Given the description of an element on the screen output the (x, y) to click on. 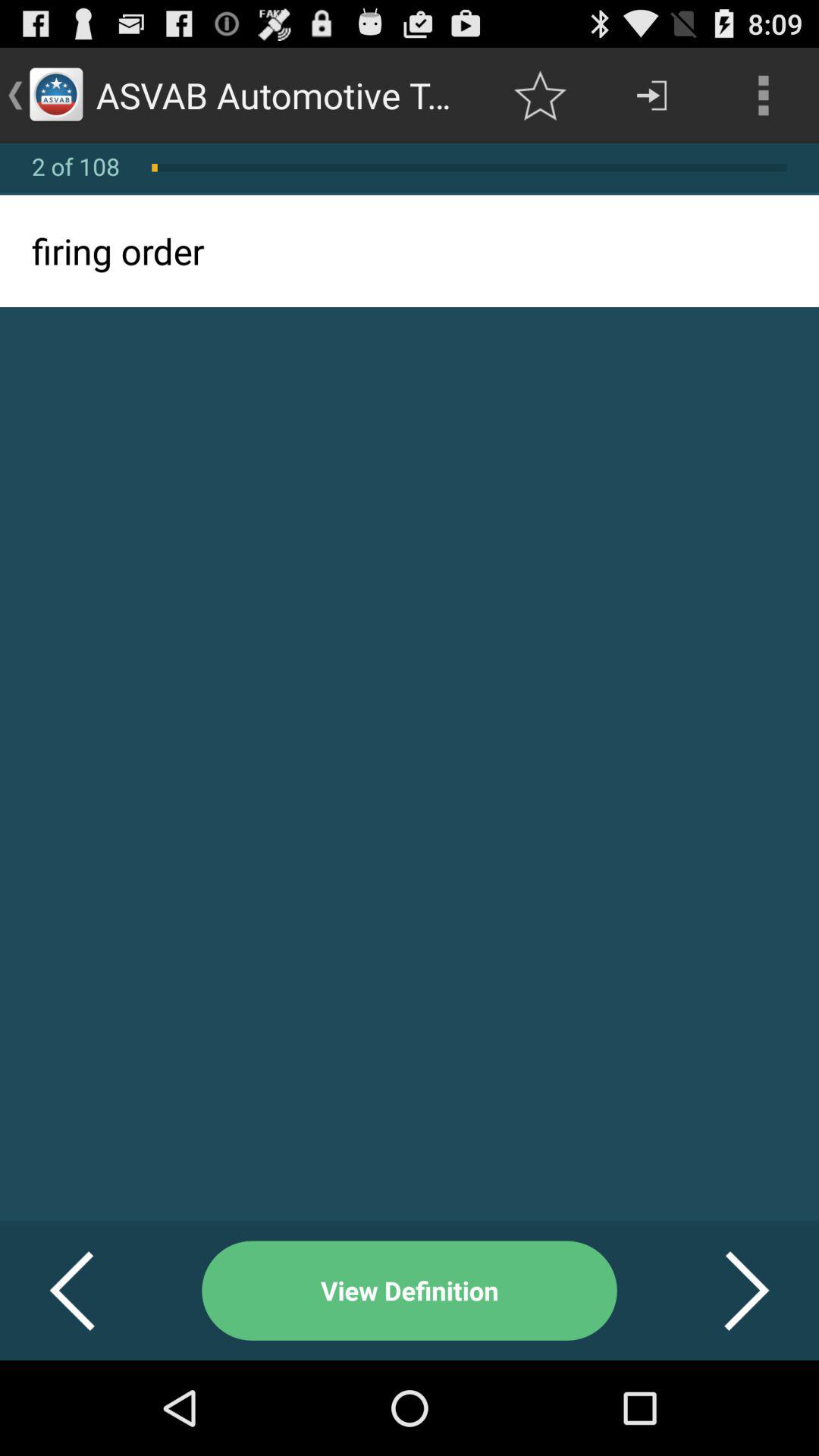
launch the item next to view definition (91, 1290)
